Given the description of an element on the screen output the (x, y) to click on. 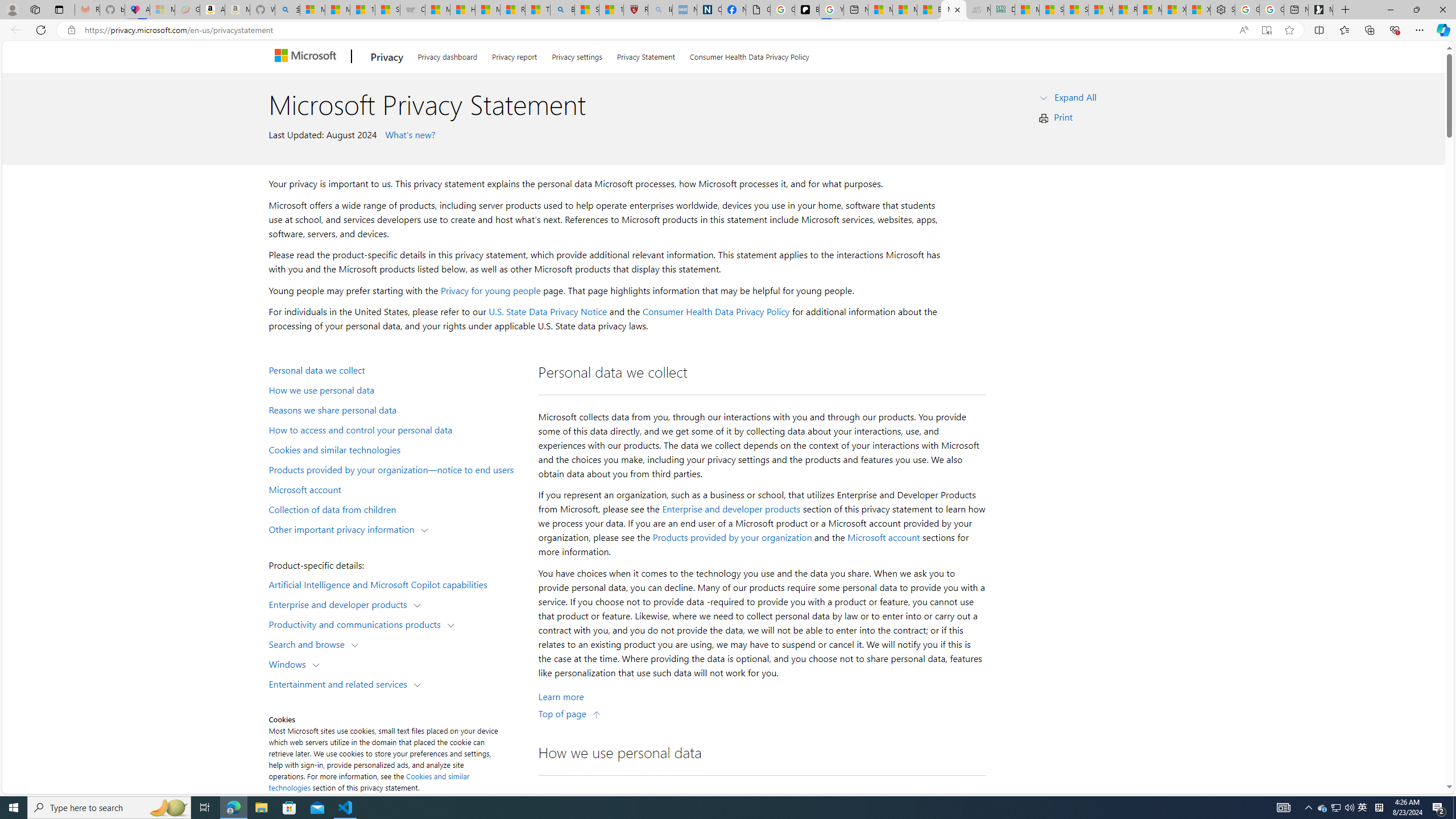
Cookies and similar technologies (368, 780)
Privacy dashboard (447, 54)
Cookies and similar technologies (395, 449)
R******* | Trusted Community Engagement and Contributions (1124, 9)
Print (1063, 116)
Microsoft account (883, 537)
Bing (562, 9)
